Given the description of an element on the screen output the (x, y) to click on. 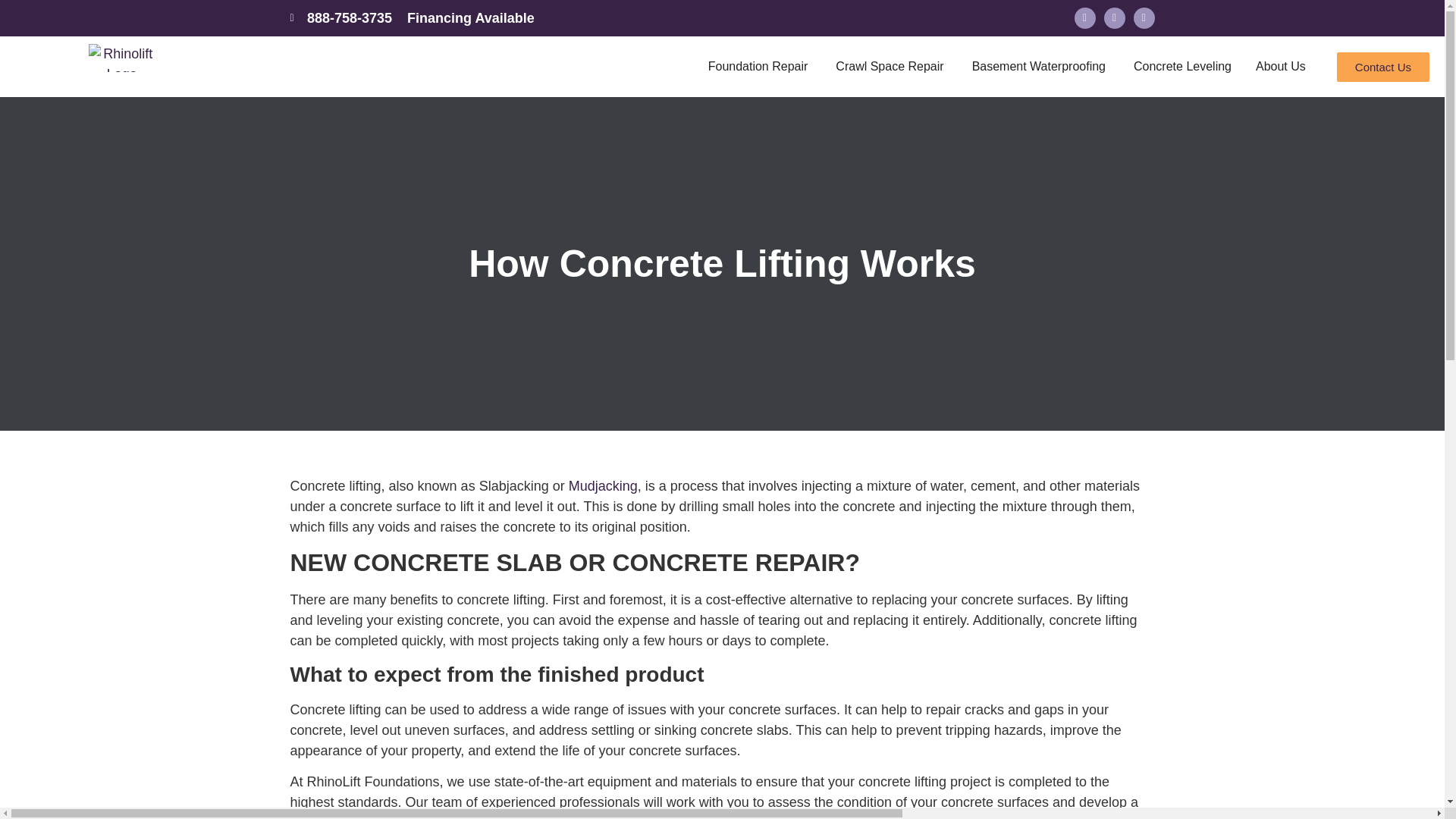
Financing Available (470, 17)
Crawl Space Repair (889, 66)
Foundation Repair (757, 66)
888-758-3735 (340, 17)
